Given the description of an element on the screen output the (x, y) to click on. 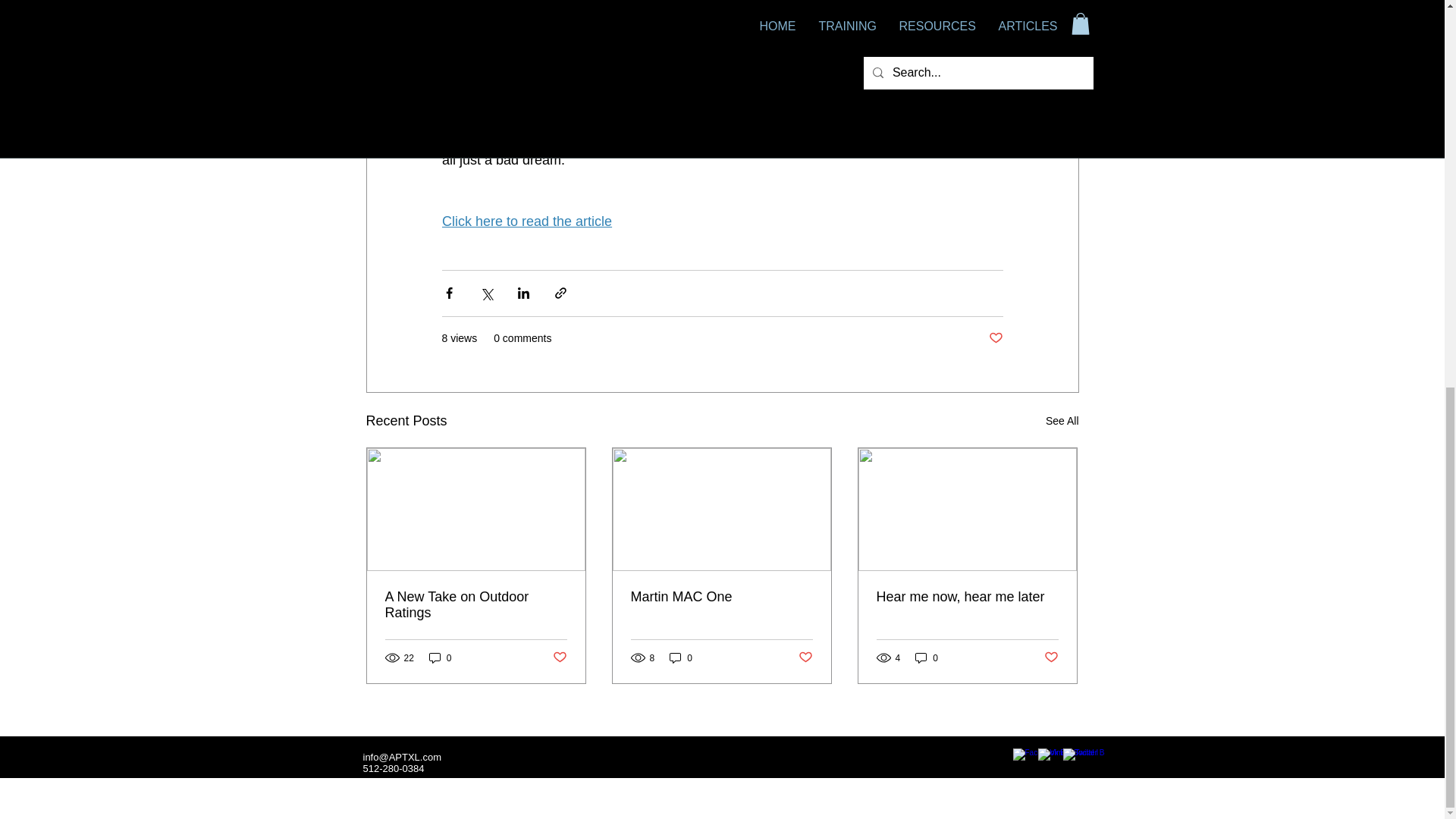
A New Take on Outdoor Ratings (476, 604)
Post not marked as liked (804, 657)
Post not marked as liked (558, 657)
Post not marked as liked (1050, 657)
See All (1061, 421)
Post not marked as liked (995, 338)
Martin MAC One (721, 596)
Hear me now, hear me later (967, 596)
0 (681, 657)
Click here to read the article (526, 221)
